Given the description of an element on the screen output the (x, y) to click on. 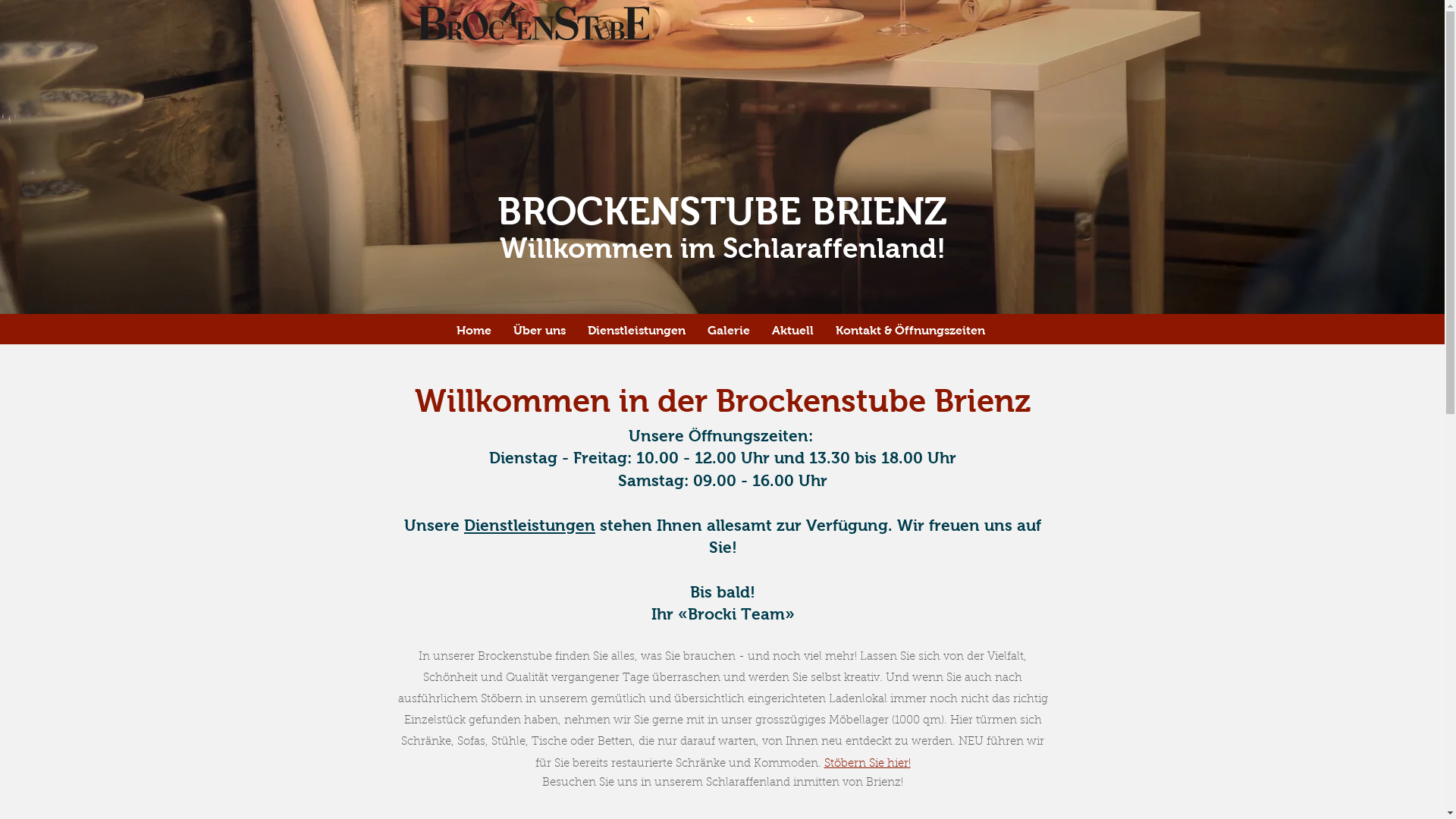
Dienstleistungen Element type: text (639, 330)
Galerie Element type: text (731, 330)
Aktuell Element type: text (796, 330)
Dienstleistungen Element type: text (529, 524)
Home Element type: text (476, 330)
